Given the description of an element on the screen output the (x, y) to click on. 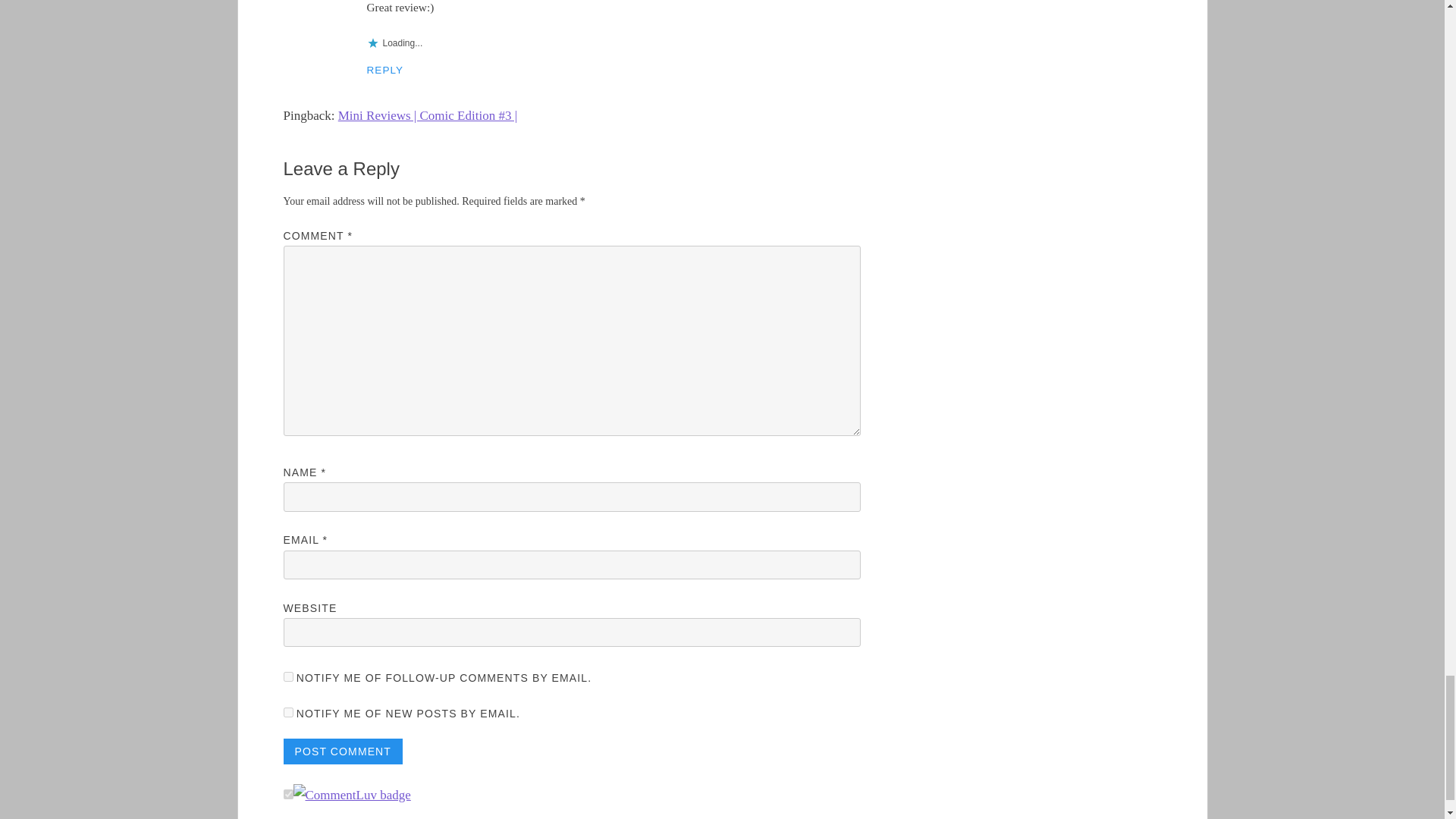
subscribe (288, 676)
subscribe (288, 712)
on (288, 794)
CommentLuv is enabled (351, 794)
Post Comment (343, 751)
